Given the description of an element on the screen output the (x, y) to click on. 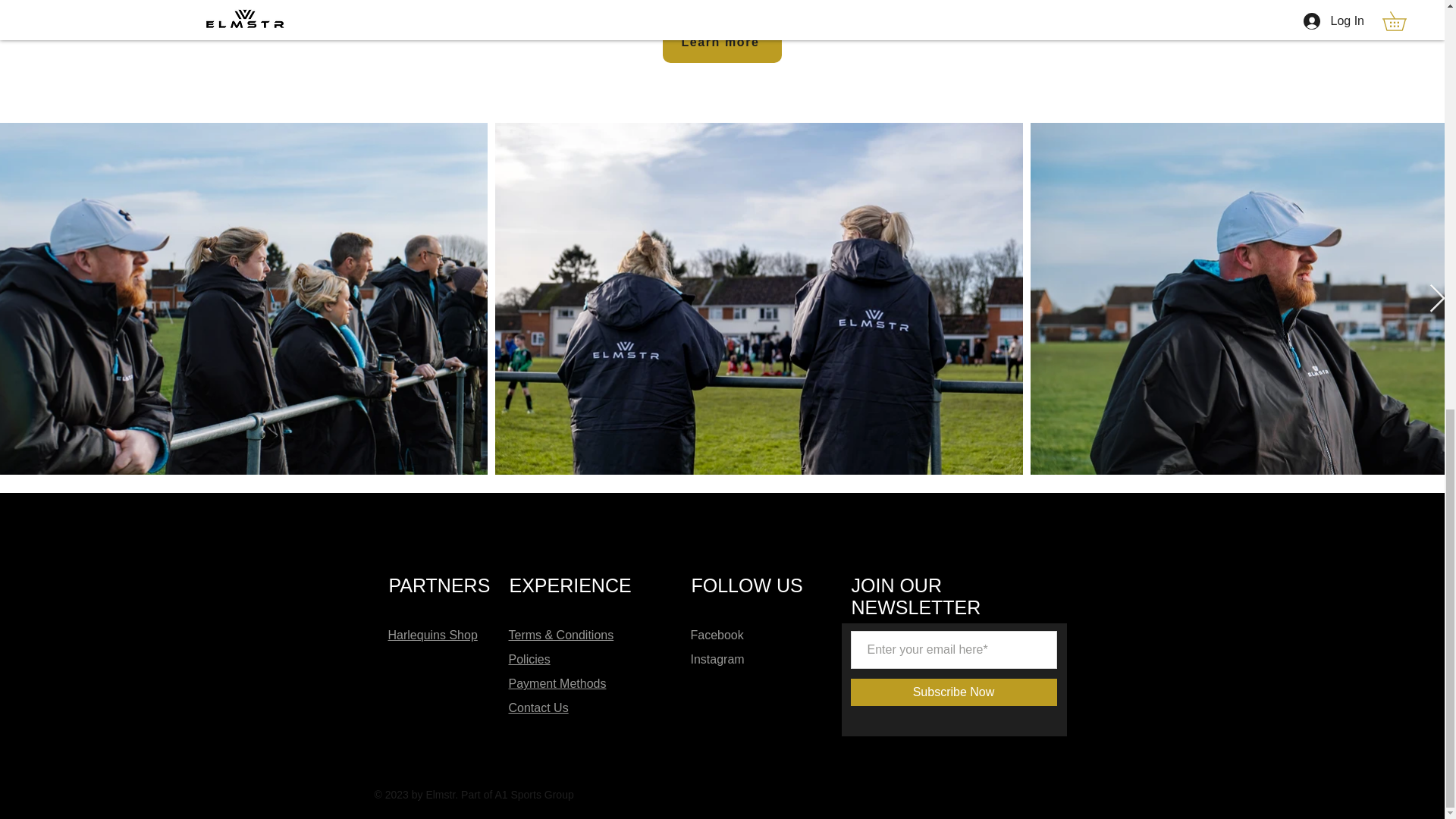
Harlequins Shop (432, 634)
Subscribe Now (953, 691)
Policies (529, 658)
Instagram (717, 658)
Facebook (716, 634)
Payment Methods (556, 683)
Learn more (721, 42)
Contact Us (537, 707)
